Given the description of an element on the screen output the (x, y) to click on. 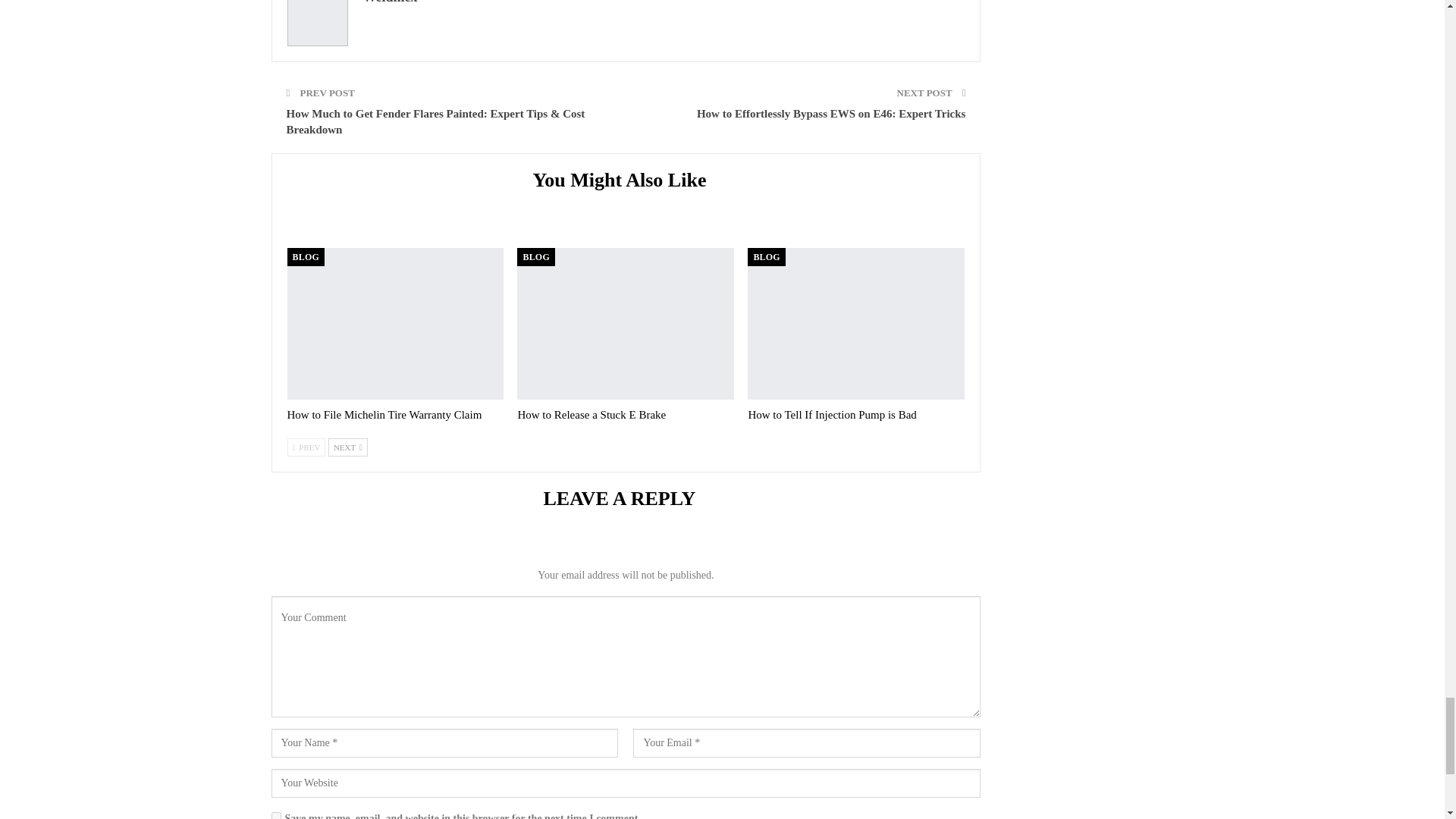
Weldmex (389, 2)
How to File Michelin Tire Warranty Claim (383, 414)
How to File Michelin Tire Warranty Claim (383, 414)
How to Release a Stuck E Brake (624, 323)
BLOG (304, 257)
You Might Also Like (625, 182)
How to Release a Stuck E Brake (590, 414)
yes (275, 815)
How to File Michelin Tire Warranty Claim (394, 323)
BLOG (535, 257)
